Given the description of an element on the screen output the (x, y) to click on. 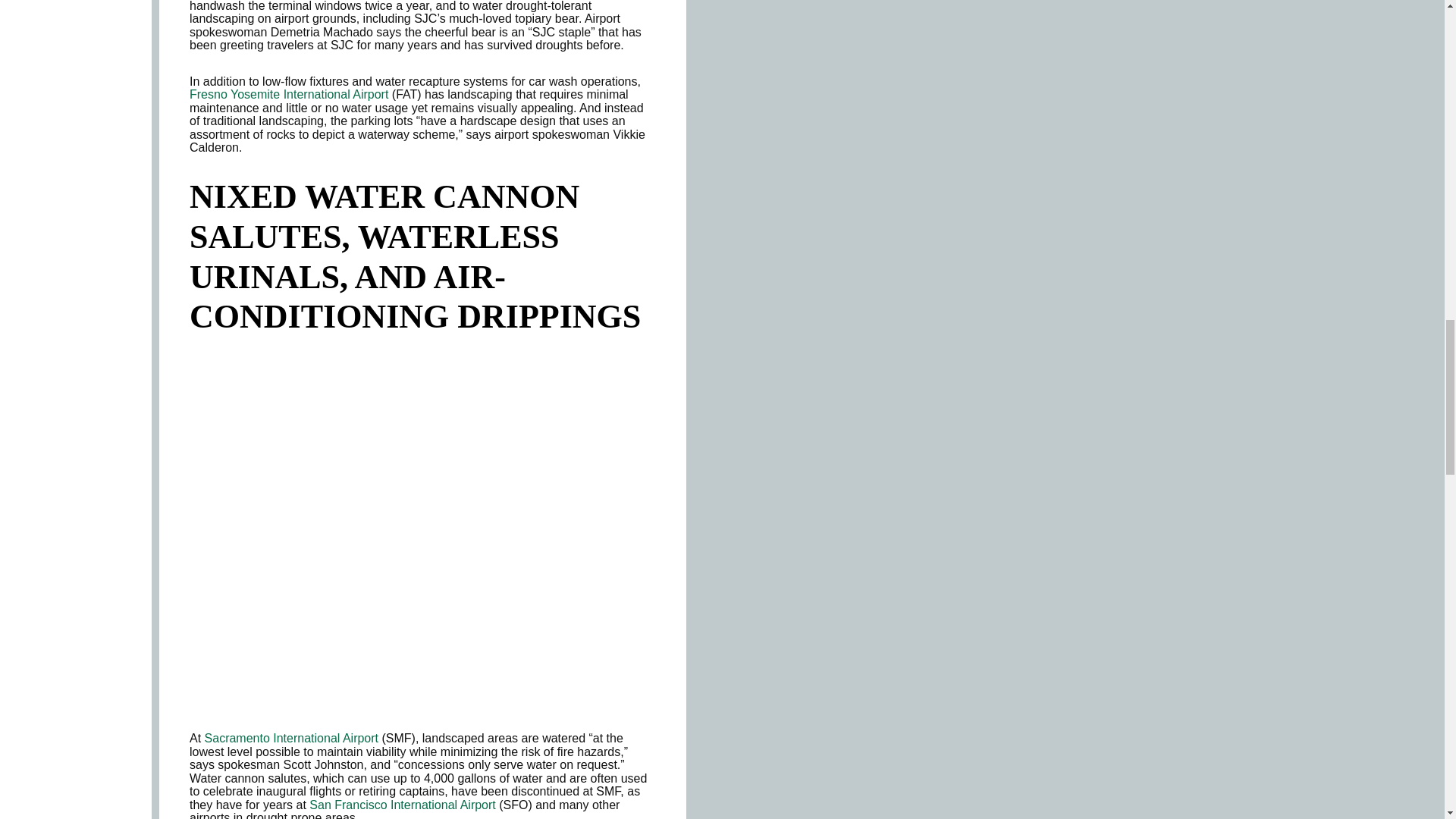
Fresno Yosemite International Airport (288, 93)
Sacramento International Airport (291, 738)
San Francisco International Airport (401, 804)
